Given the description of an element on the screen output the (x, y) to click on. 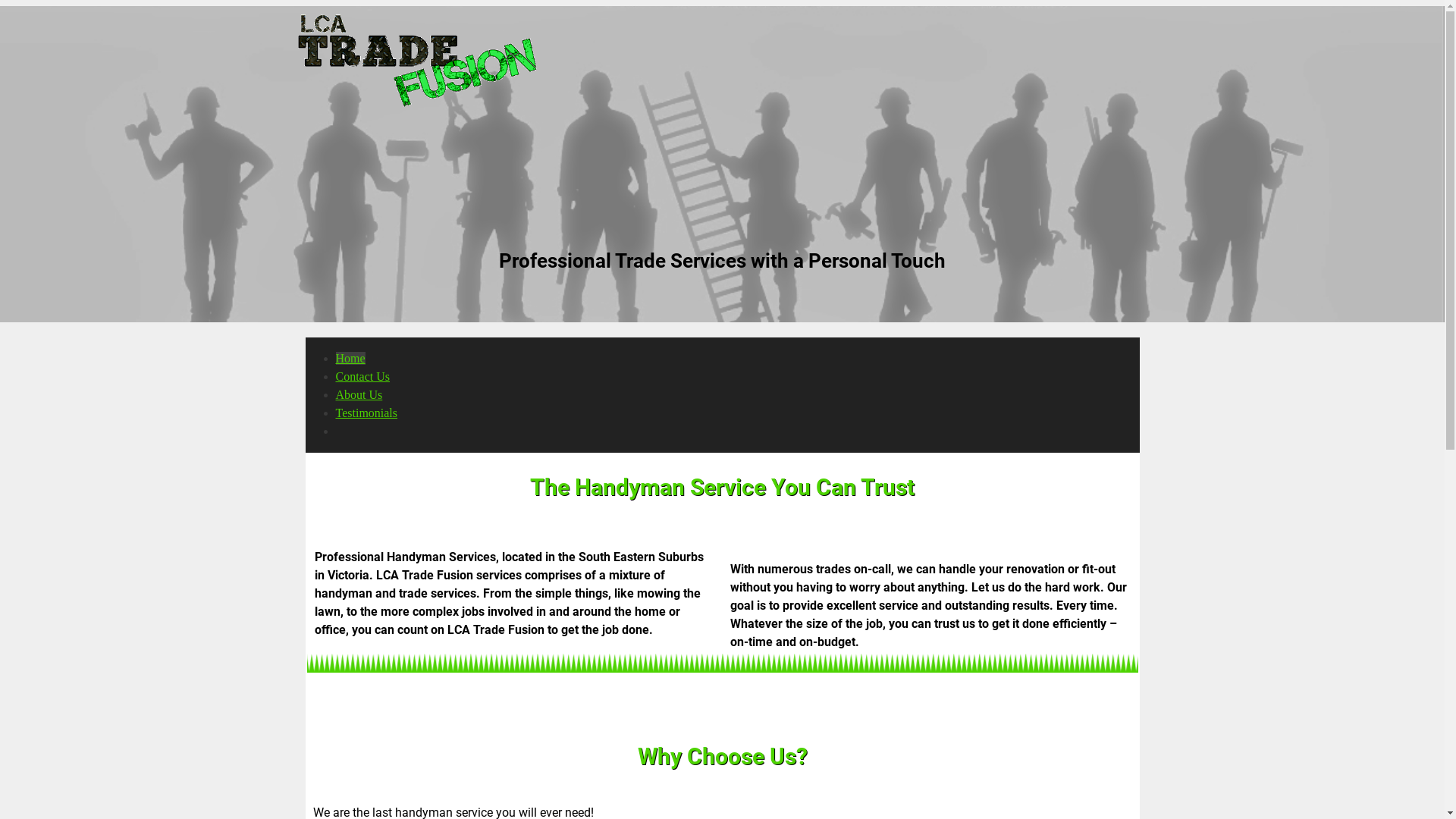
Testimonials Element type: text (366, 412)
Home Element type: text (349, 357)
Contact Us Element type: text (362, 376)
About Us Element type: text (358, 394)
